Given the description of an element on the screen output the (x, y) to click on. 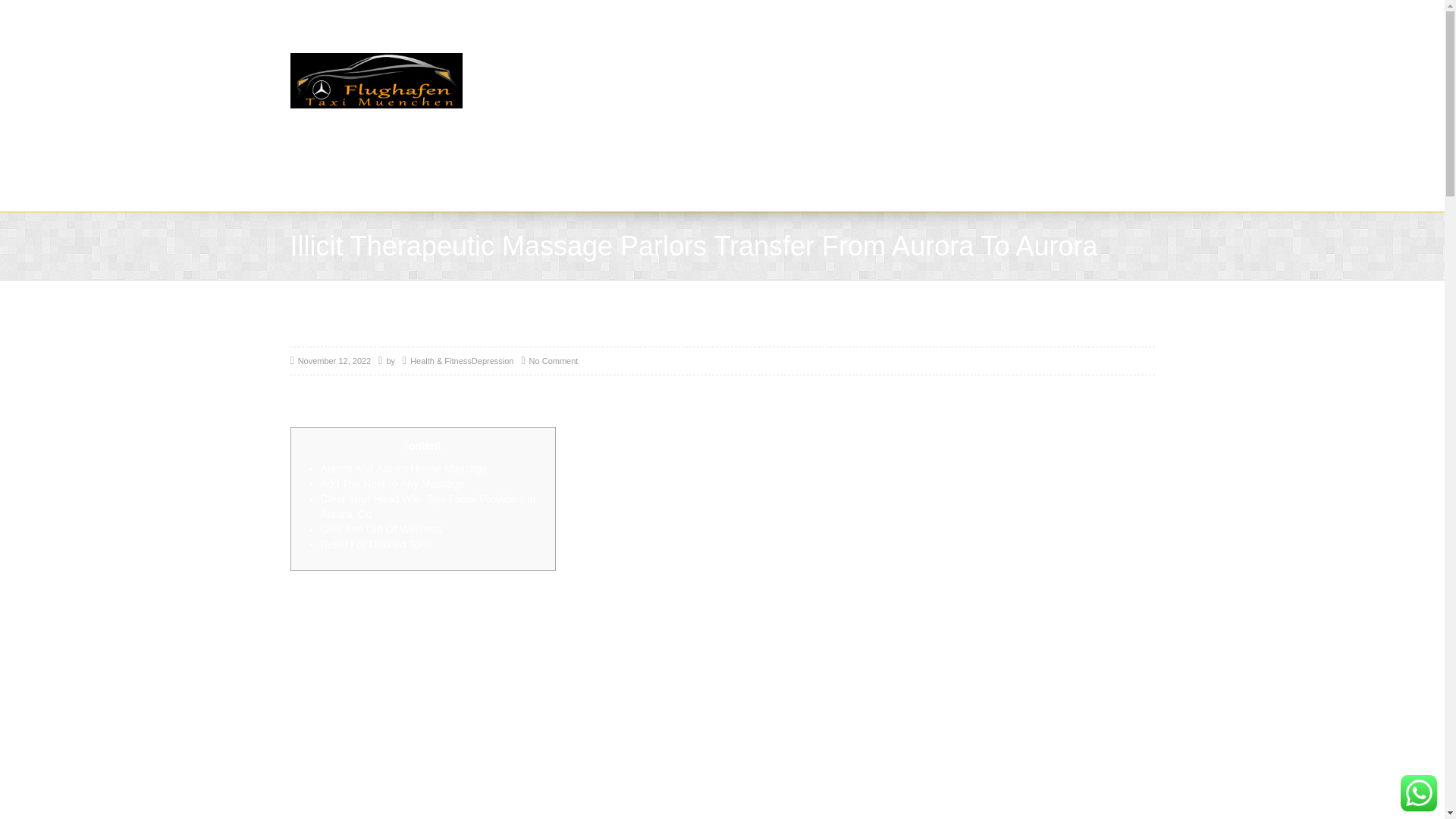
HOME (317, 146)
OUR FLEET (875, 146)
FLUGHAFEN TAXI MUENCHEN (1027, 146)
MY ACCOUNT (587, 146)
TAXI NACH TOMORROWLAND (395, 177)
LEISTUNGEN (483, 146)
Flughafen Taxi Muenchen (375, 80)
IMPRESSUM (780, 146)
BOOK NOW (685, 146)
